Given the description of an element on the screen output the (x, y) to click on. 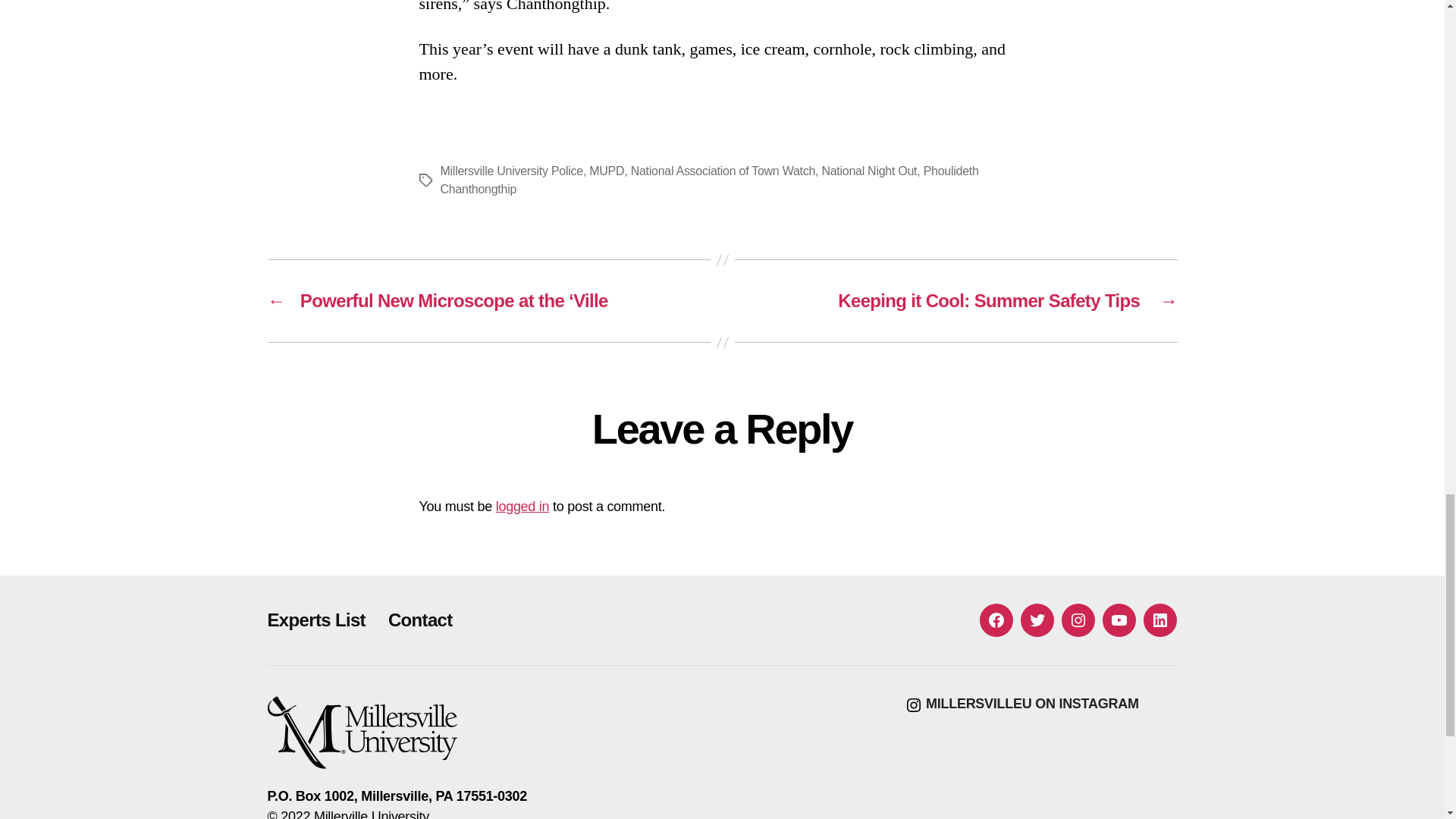
MUPD (606, 170)
Millersville University Police (510, 170)
National Association of Town Watch (722, 170)
Instagram (1077, 620)
logged in (523, 506)
Experts List (315, 619)
Phoulideth Chanthongthip (708, 179)
Facebook (996, 620)
Twitter (1037, 620)
National Night Out (869, 170)
